Given the description of an element on the screen output the (x, y) to click on. 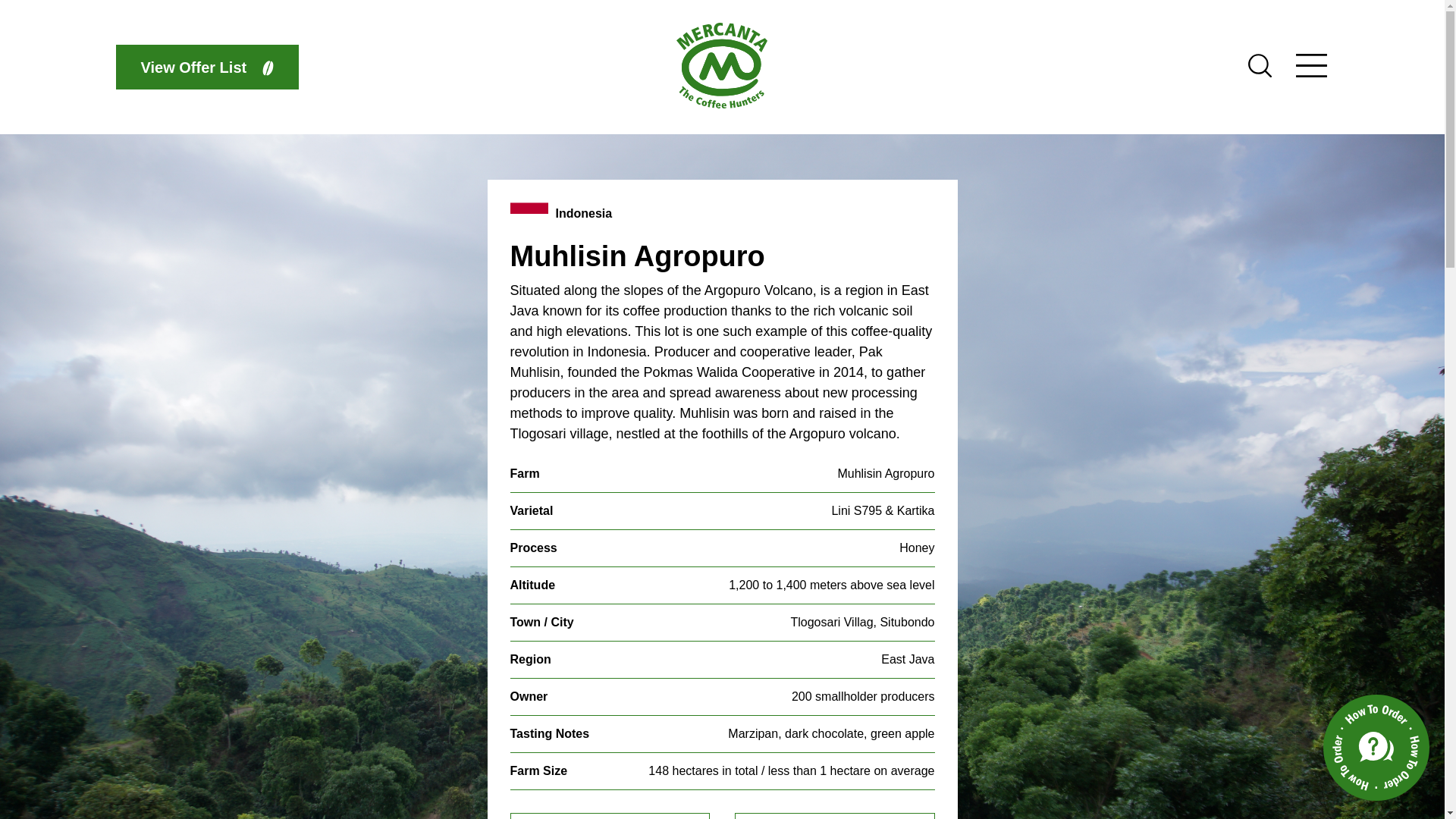
View Offer List (206, 67)
About Indonesia (834, 816)
How To Order (1376, 748)
Offer List (206, 67)
More Information (609, 816)
Search (1259, 72)
